Given the description of an element on the screen output the (x, y) to click on. 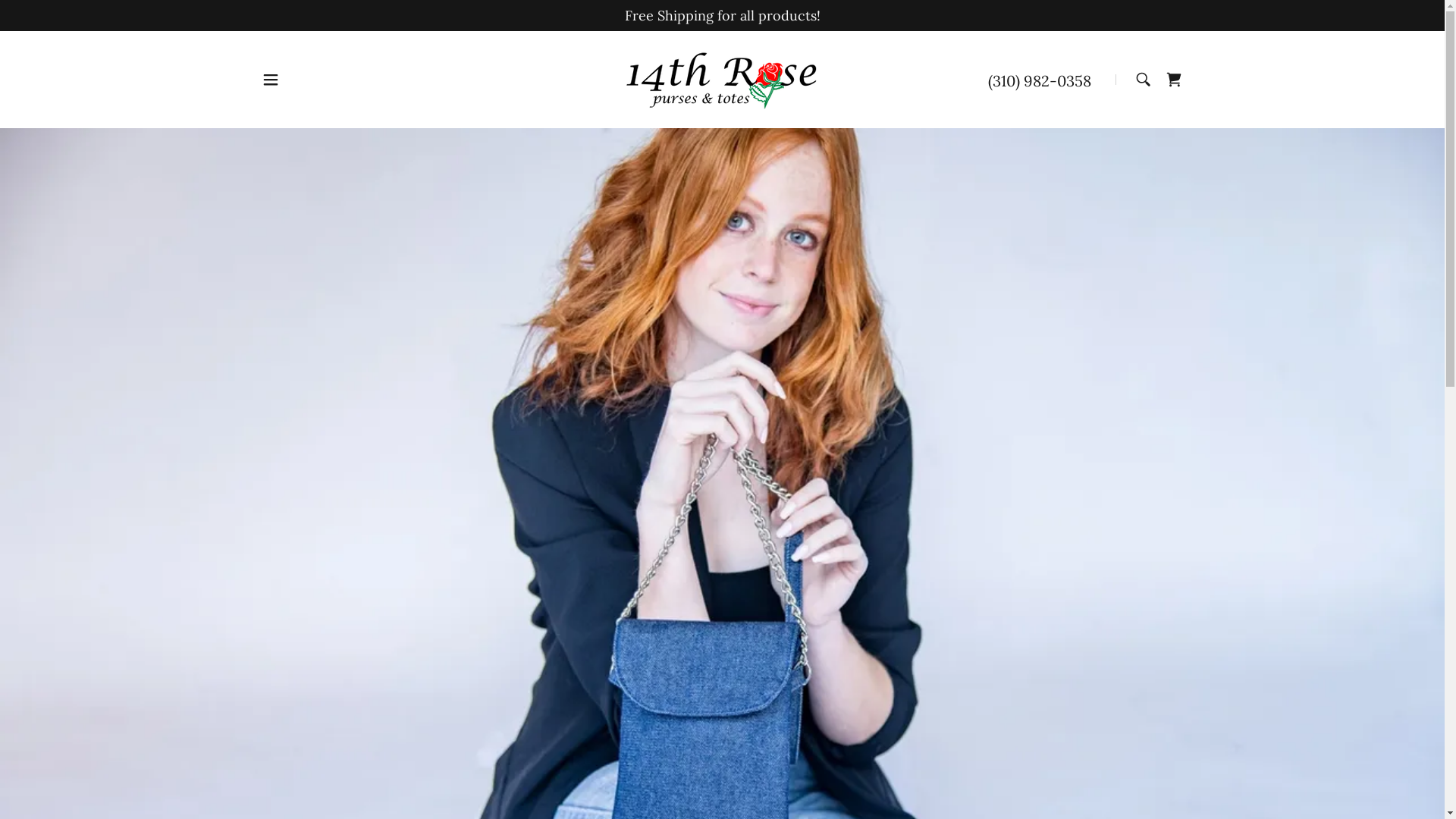
(310) 982-0358 Element type: text (1039, 80)
14th Rose Element type: hover (722, 78)
